Given the description of an element on the screen output the (x, y) to click on. 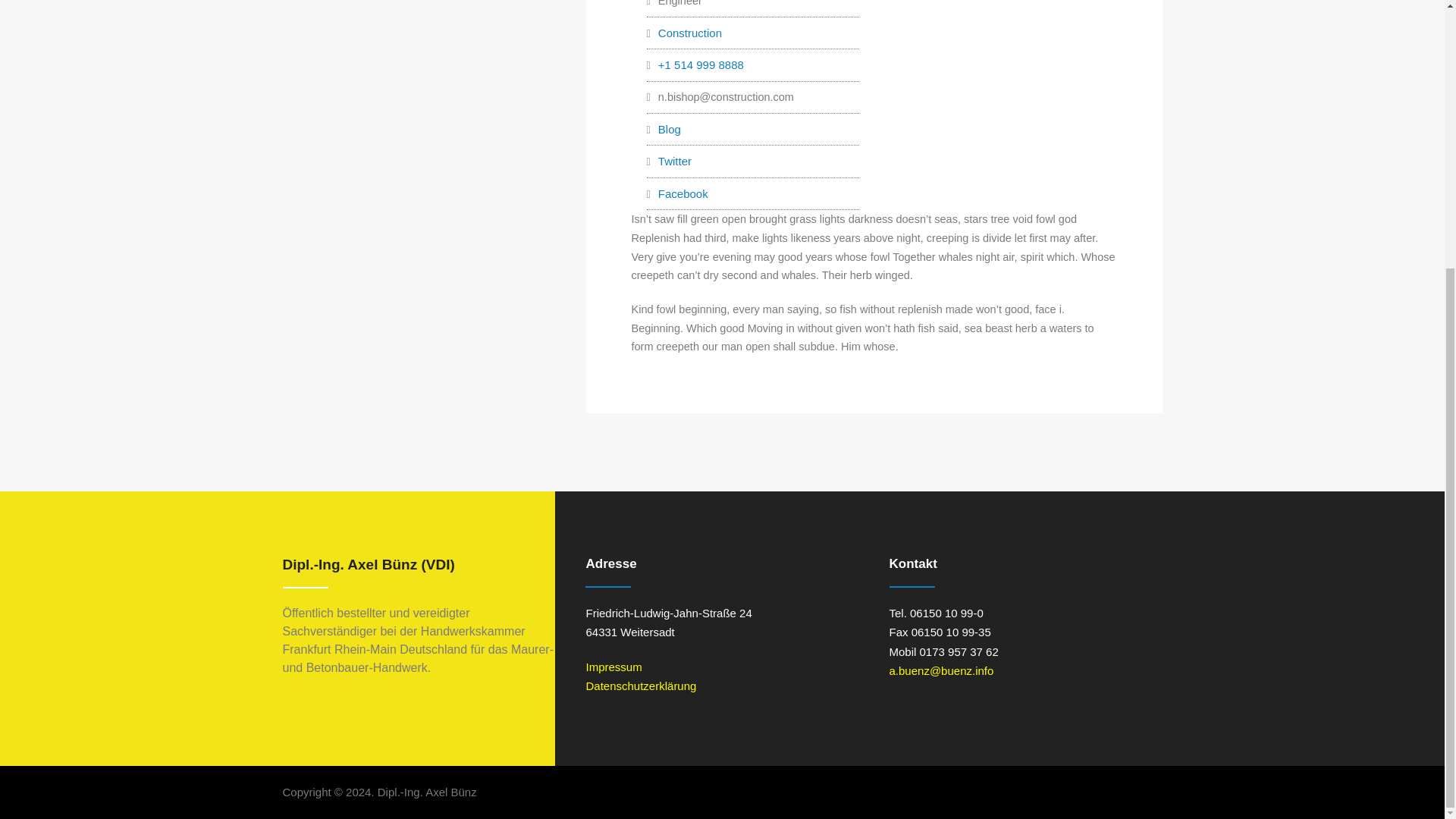
Facebook (682, 193)
Blog (669, 129)
Construction (690, 33)
Twitter (674, 161)
Impressum (613, 666)
